Given the description of an element on the screen output the (x, y) to click on. 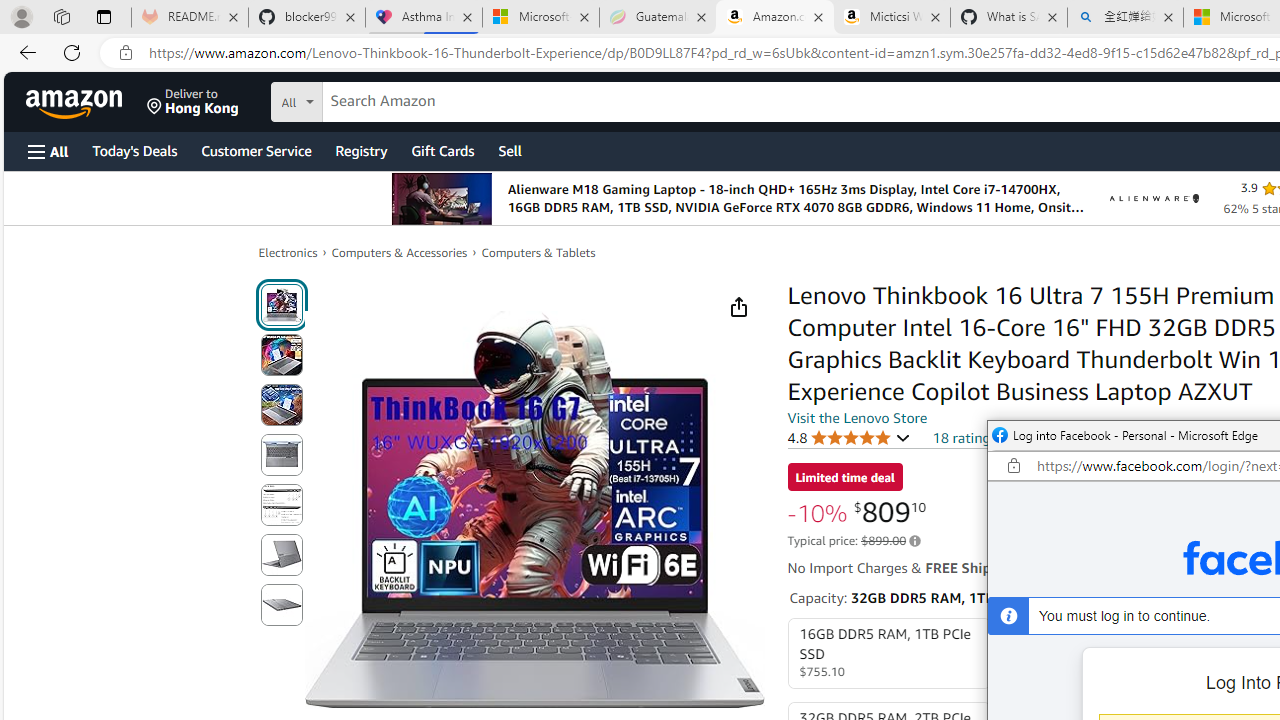
4.8 4.8 out of 5 stars (849, 437)
Deliver to Hong Kong (193, 101)
Asthma Inhalers: Names and Types (424, 17)
Registry (360, 150)
Logo (1153, 198)
Sell (509, 150)
Today's Deals (134, 150)
Computers & Tablets (538, 252)
Electronics (287, 251)
Visit the Lenovo Store (857, 417)
Computers & Accessories (399, 251)
